Given the description of an element on the screen output the (x, y) to click on. 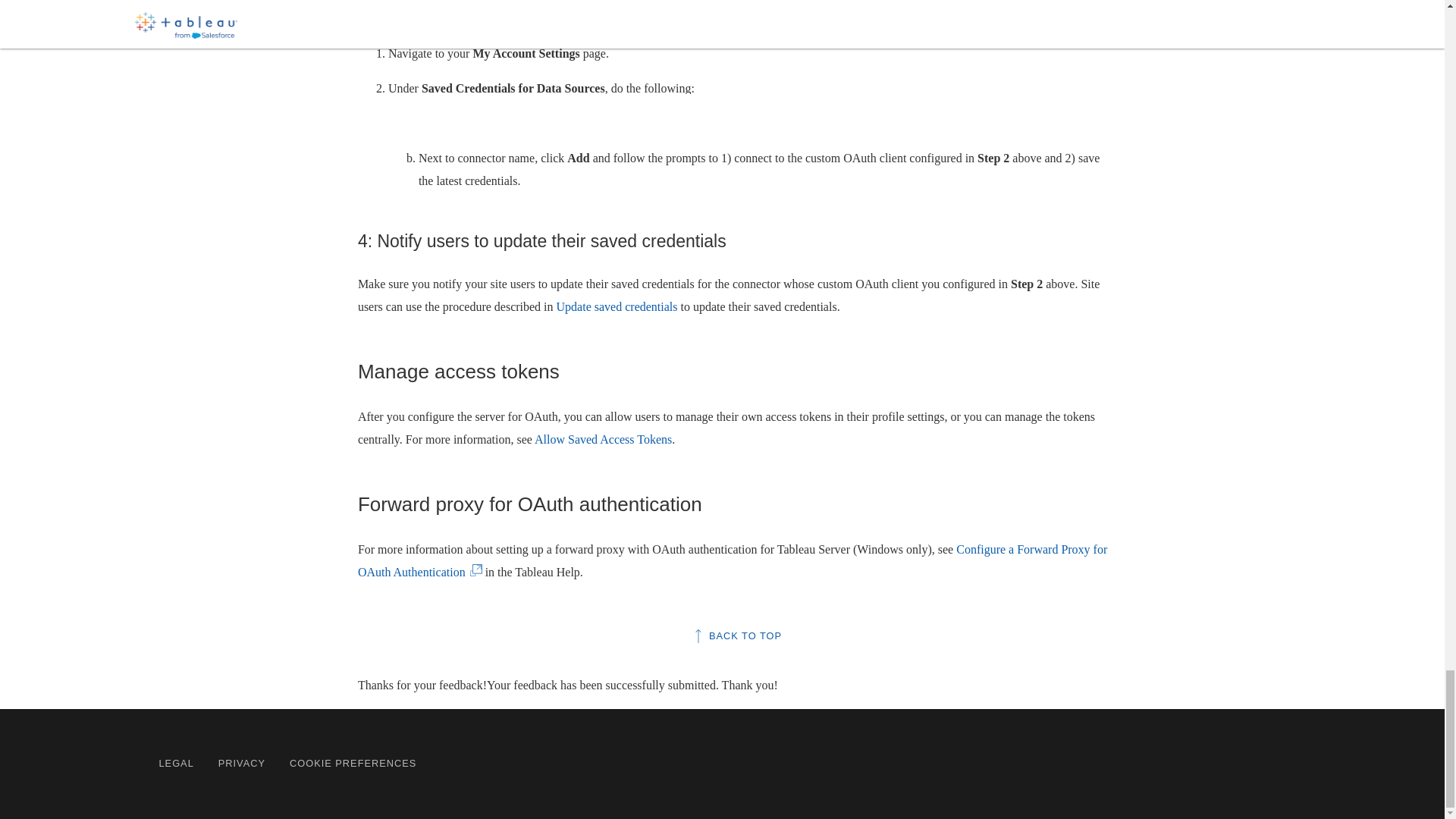
LEGAL (175, 763)
Update saved credentials (617, 306)
Allow Saved Access Tokens (602, 439)
BACK TO TOP (736, 635)
PRIVACY (241, 763)
COOKIE PREFERENCES (352, 763)
